Given the description of an element on the screen output the (x, y) to click on. 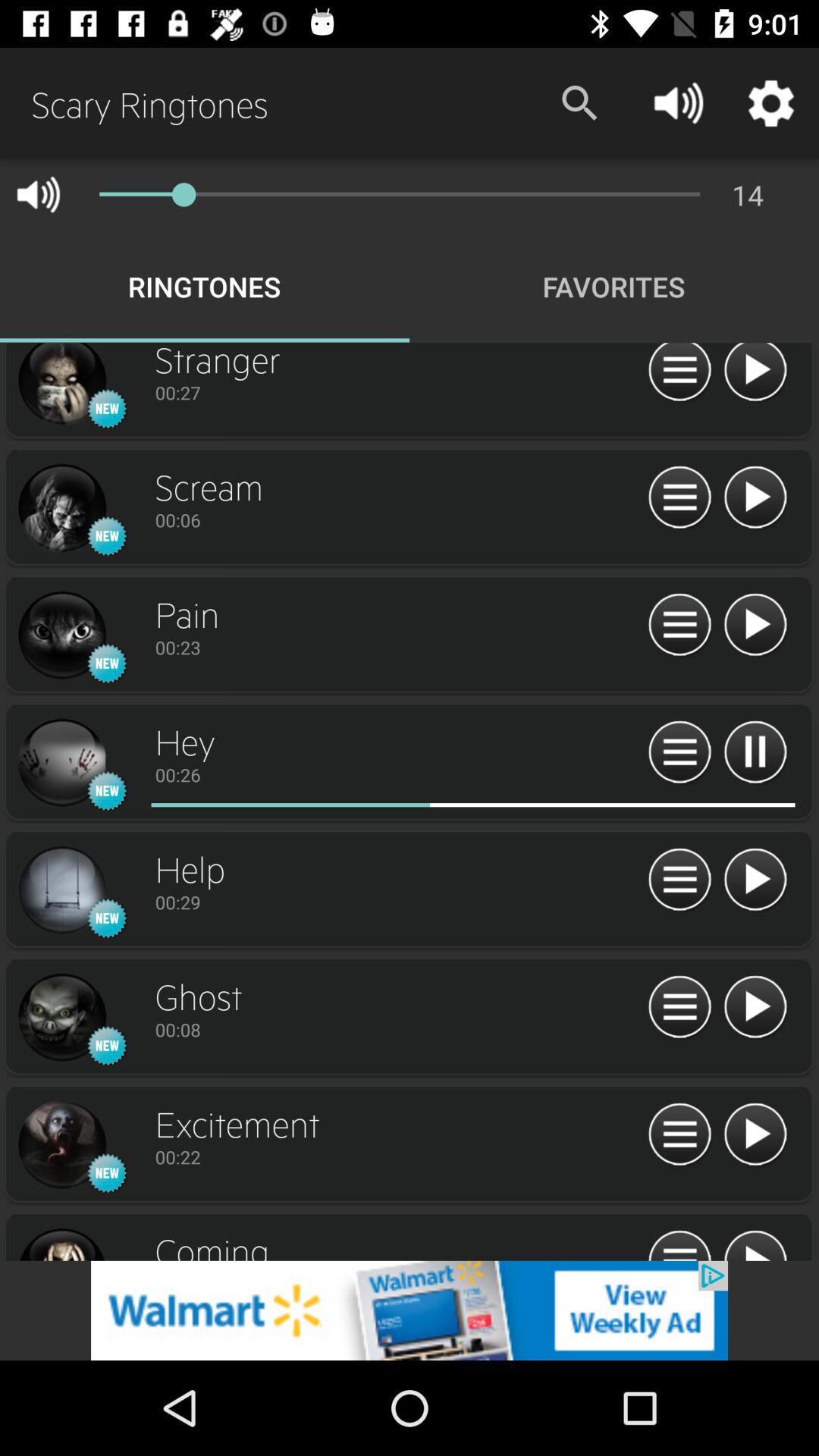
go to queue option (679, 880)
